Given the description of an element on the screen output the (x, y) to click on. 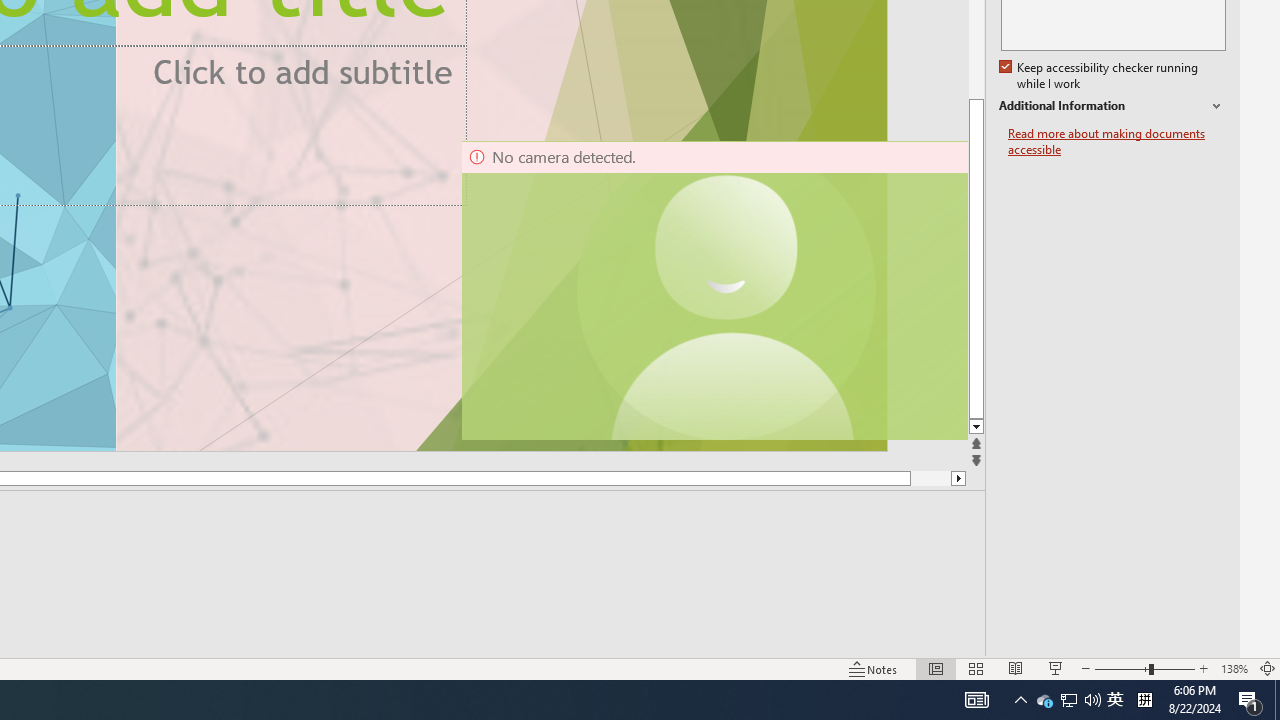
Read more about making documents accessible (1117, 142)
Keep accessibility checker running while I work (1099, 76)
Zoom 138% (1234, 668)
Additional Information (1112, 106)
